Given the description of an element on the screen output the (x, y) to click on. 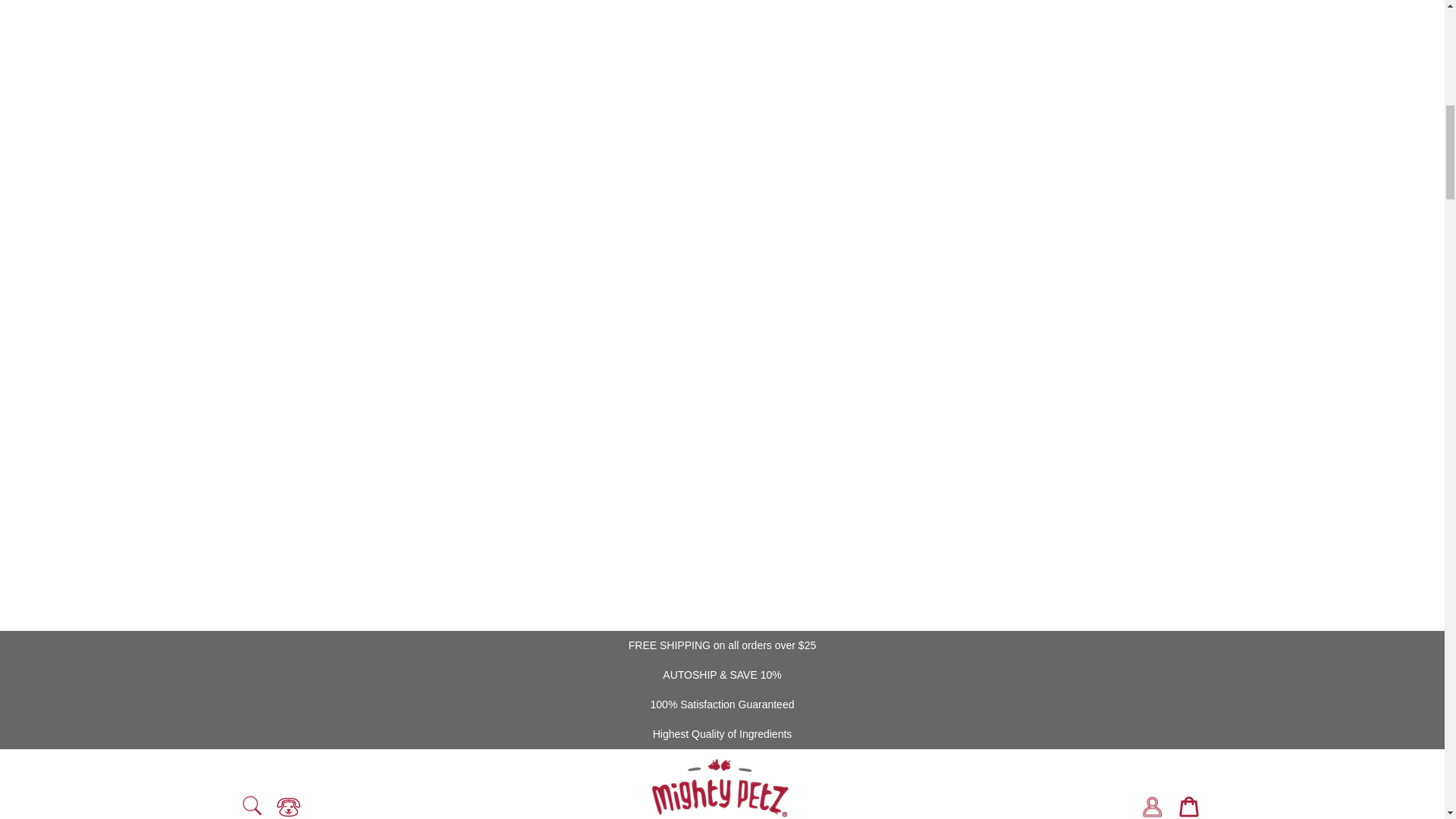
Log in (1152, 802)
Cart (1188, 803)
Search (250, 805)
